Given the description of an element on the screen output the (x, y) to click on. 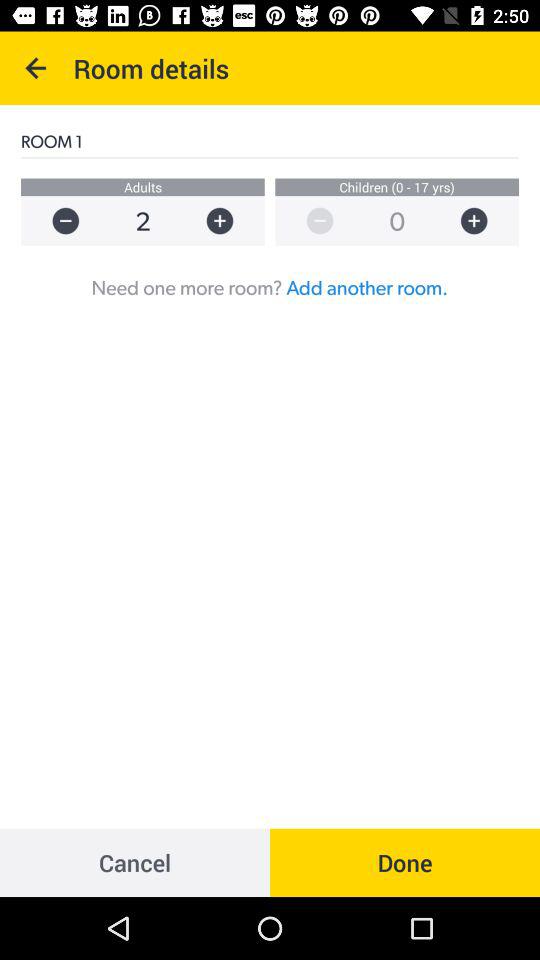
increase adult tickets (229, 220)
